Given the description of an element on the screen output the (x, y) to click on. 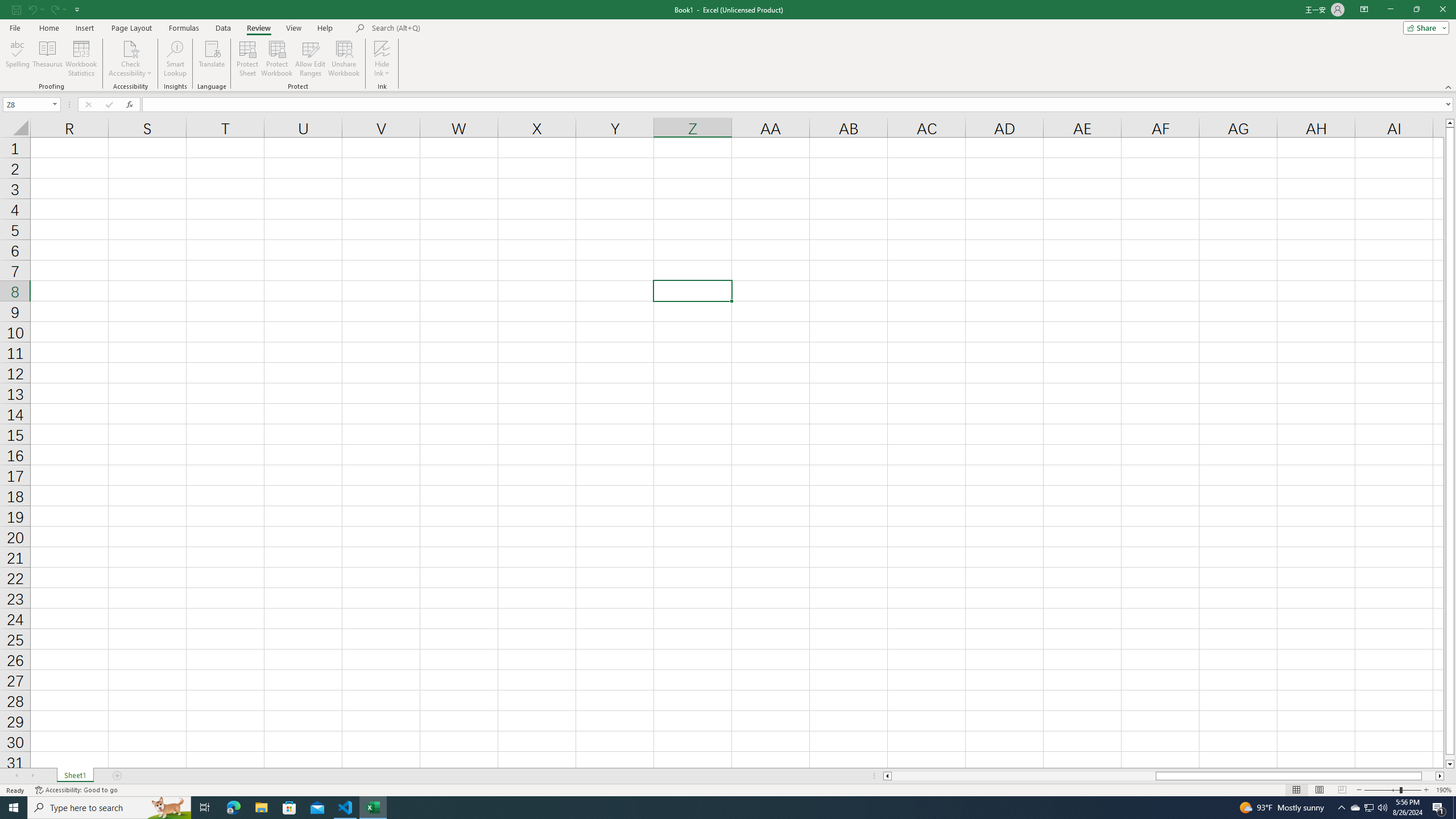
Protect Sheet... (247, 58)
Page down (1449, 757)
Spelling... (17, 58)
Review (258, 28)
Protect Workbook... (277, 58)
Smart Lookup (175, 58)
Sheet1 (74, 775)
Workbook Statistics (81, 58)
Allow Edit Ranges (310, 58)
Scroll Right (32, 775)
